Given the description of an element on the screen output the (x, y) to click on. 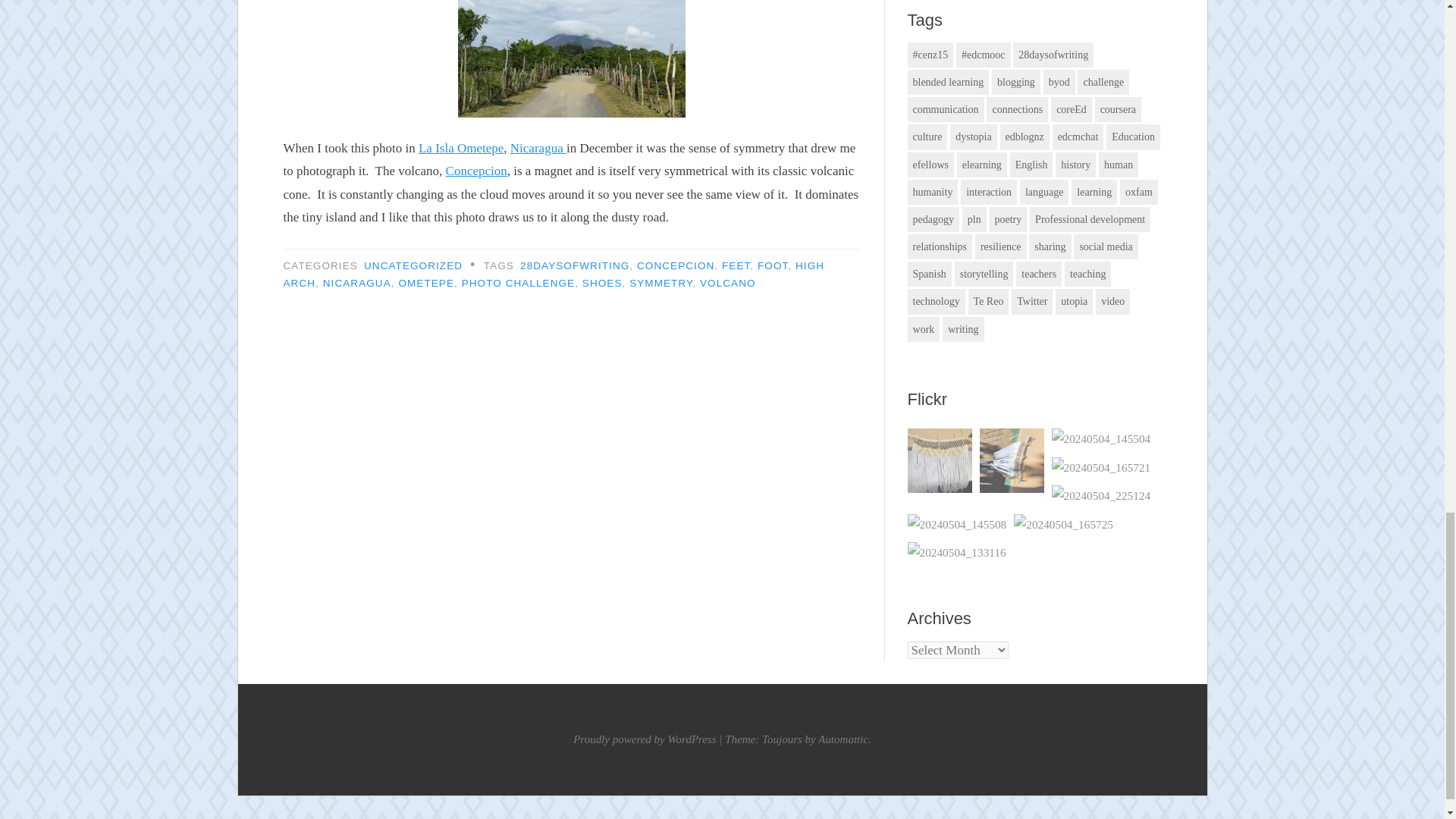
PHOTO CHALLENGE (518, 283)
CONCEPCION (675, 265)
FEET (735, 265)
SYMMETRY (660, 283)
OMETEPE (425, 283)
28DAYSOFWRITING (573, 265)
Concepcion (475, 170)
HIGH ARCH (554, 274)
VOLCANO (727, 283)
Nicaragua (538, 147)
FOOT (772, 265)
UNCATEGORIZED (413, 265)
SHOES (602, 283)
NICARAGUA (357, 283)
La Isla Ometepe (461, 147)
